Given the description of an element on the screen output the (x, y) to click on. 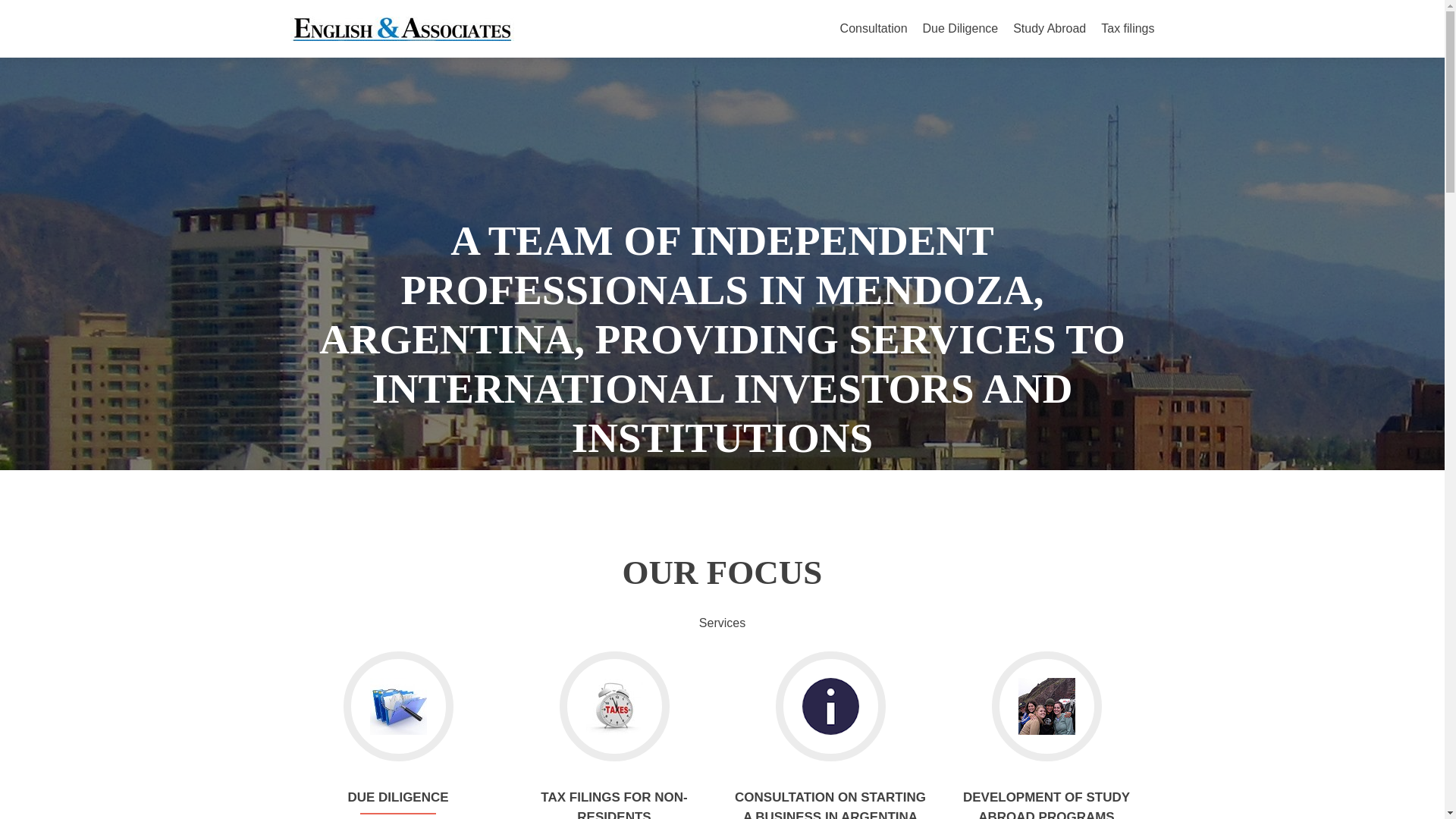
Consultation (873, 28)
Due Diligence (960, 28)
Tax filings (1127, 28)
Study Abroad (1049, 28)
